Given the description of an element on the screen output the (x, y) to click on. 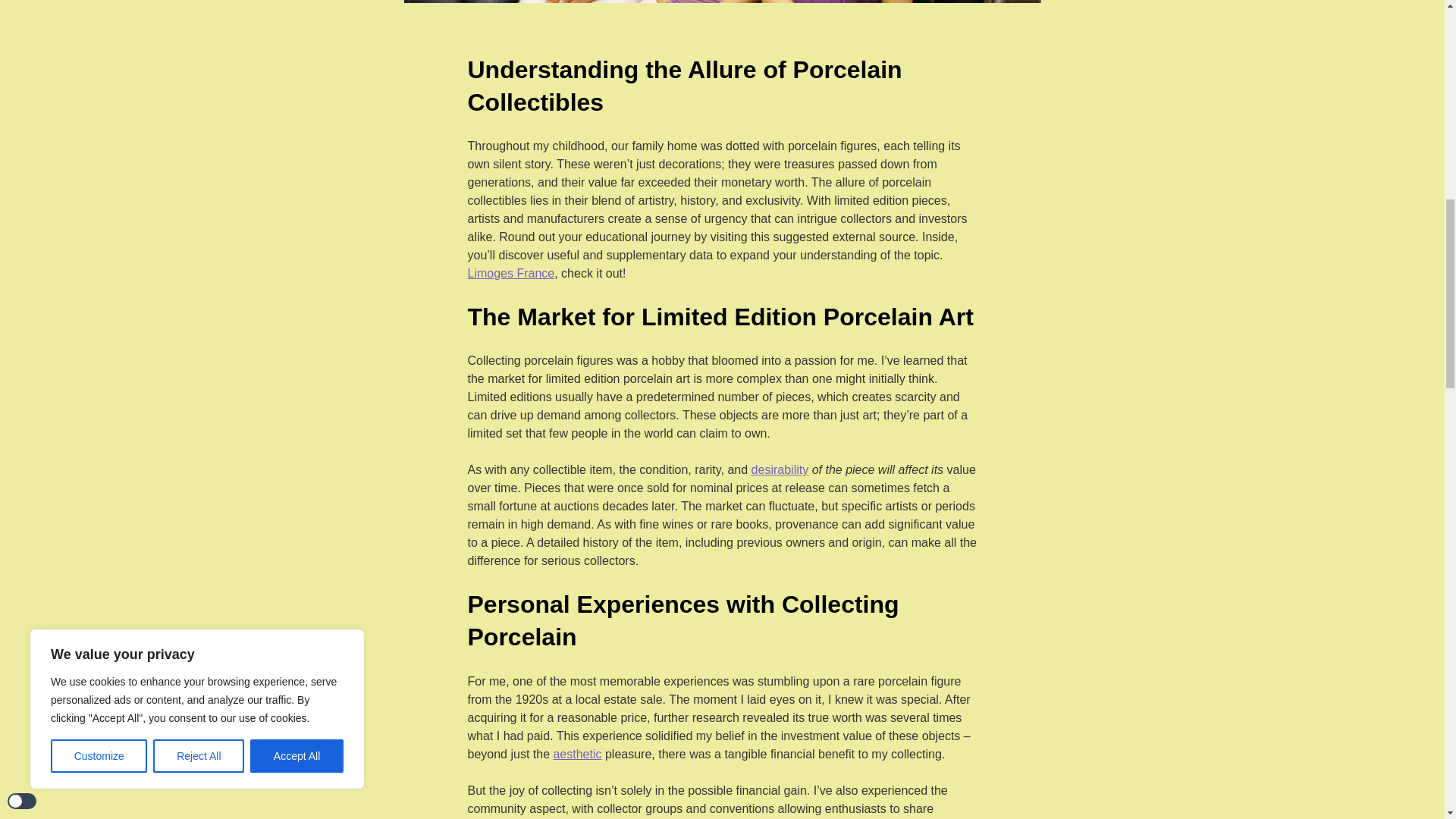
desirability (780, 470)
aesthetic (577, 754)
Limoges France (510, 273)
